Given the description of an element on the screen output the (x, y) to click on. 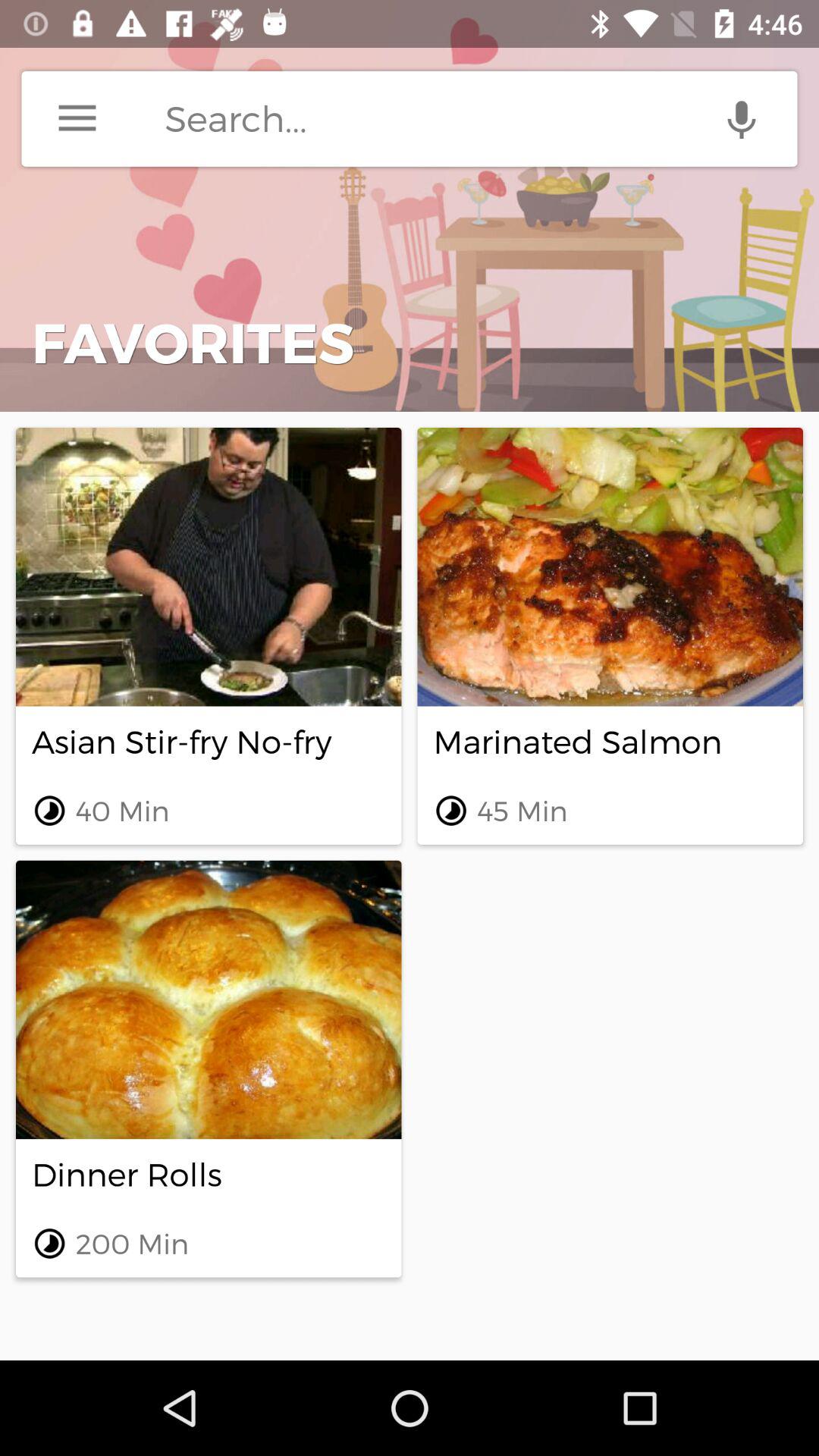
speech to text (741, 118)
